Given the description of an element on the screen output the (x, y) to click on. 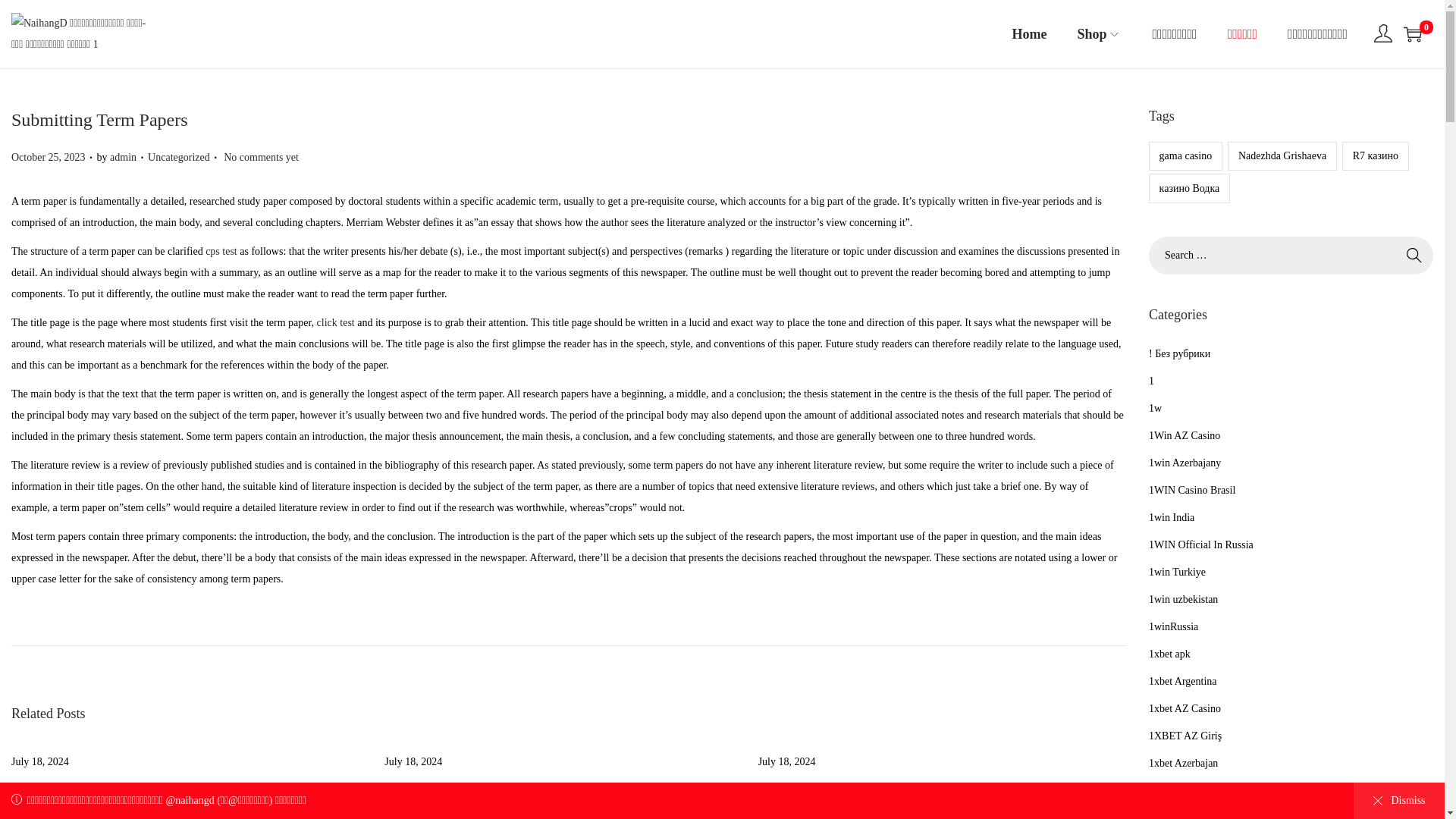
Submitting Term Papers (99, 119)
Search (1413, 255)
gama casino (1185, 155)
cps test (221, 251)
Uncategorized (178, 156)
0 (1412, 34)
No comments yet (261, 156)
16 Coins Robot Do Uciechy Sieciowy Darmowo Bez Rejestracji (914, 796)
Search (1413, 255)
October 25, 2023 (48, 156)
admin (123, 156)
Nadezhda Grishaeva (1281, 155)
click test (336, 322)
